Given the description of an element on the screen output the (x, y) to click on. 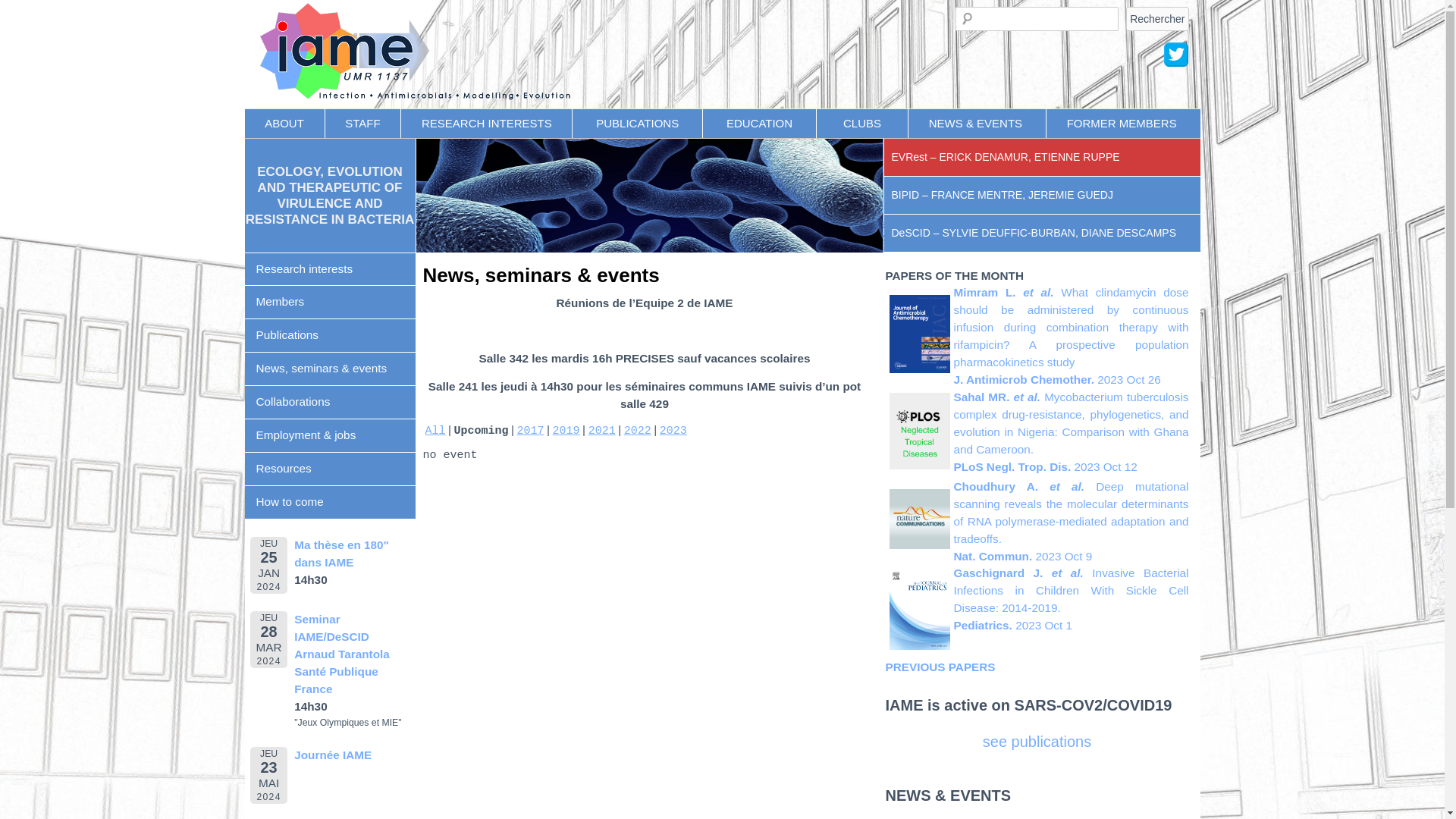
PREVIOUS PAPERS Element type: text (940, 666)
 PUBLICATIONS  Element type: text (637, 123)
2017 Element type: text (530, 430)
2023 Element type: text (673, 430)
 EDUCATION  Element type: text (758, 123)
2022 Element type: text (637, 430)
Research interests Element type: text (329, 269)
News, seminars & events Element type: text (329, 368)
NEWS & EVENTS  Element type: text (976, 123)
2019 Element type: text (566, 430)
Collaborations Element type: text (329, 402)
ABOUT Element type: text (283, 123)
2021 Element type: text (601, 430)
  CLUBS   Element type: text (861, 123)
FORMER MEMBERS Element type: text (1121, 123)
Employment & jobs Element type: text (329, 435)
Publications Element type: text (329, 335)
RESEARCH INTERESTS Element type: text (486, 123)
Rechercher Element type: text (1157, 18)
see publications Element type: text (1036, 741)
Members Element type: text (329, 302)
Resources Element type: text (329, 469)
How to come Element type: text (329, 502)
All Element type: text (434, 430)
IAME Element type: text (639, 18)
News, seminars & events Element type: text (541, 274)
STAFF Element type: text (363, 123)
